Given the description of an element on the screen output the (x, y) to click on. 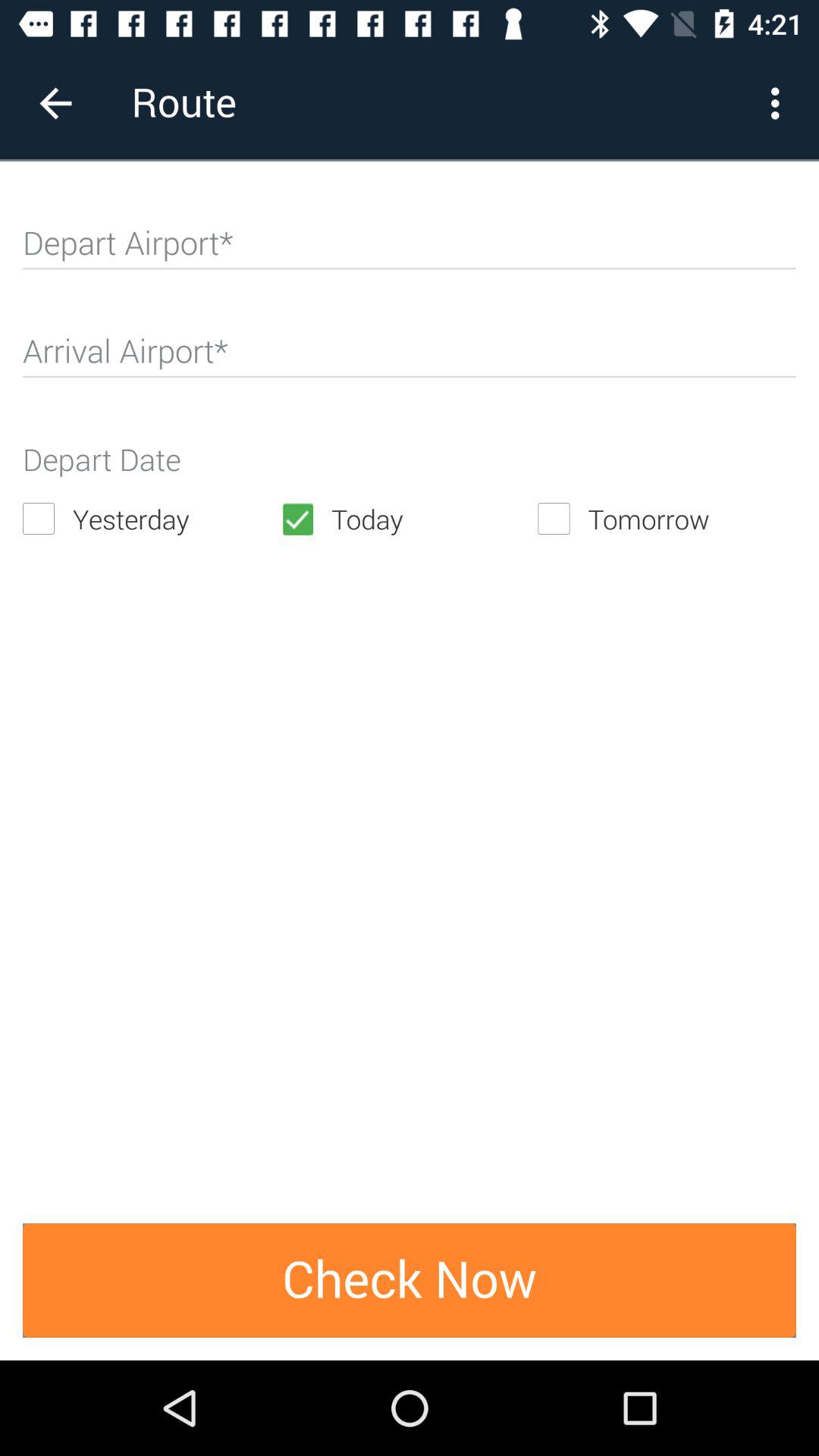
type arrival airport (409, 357)
